Given the description of an element on the screen output the (x, y) to click on. 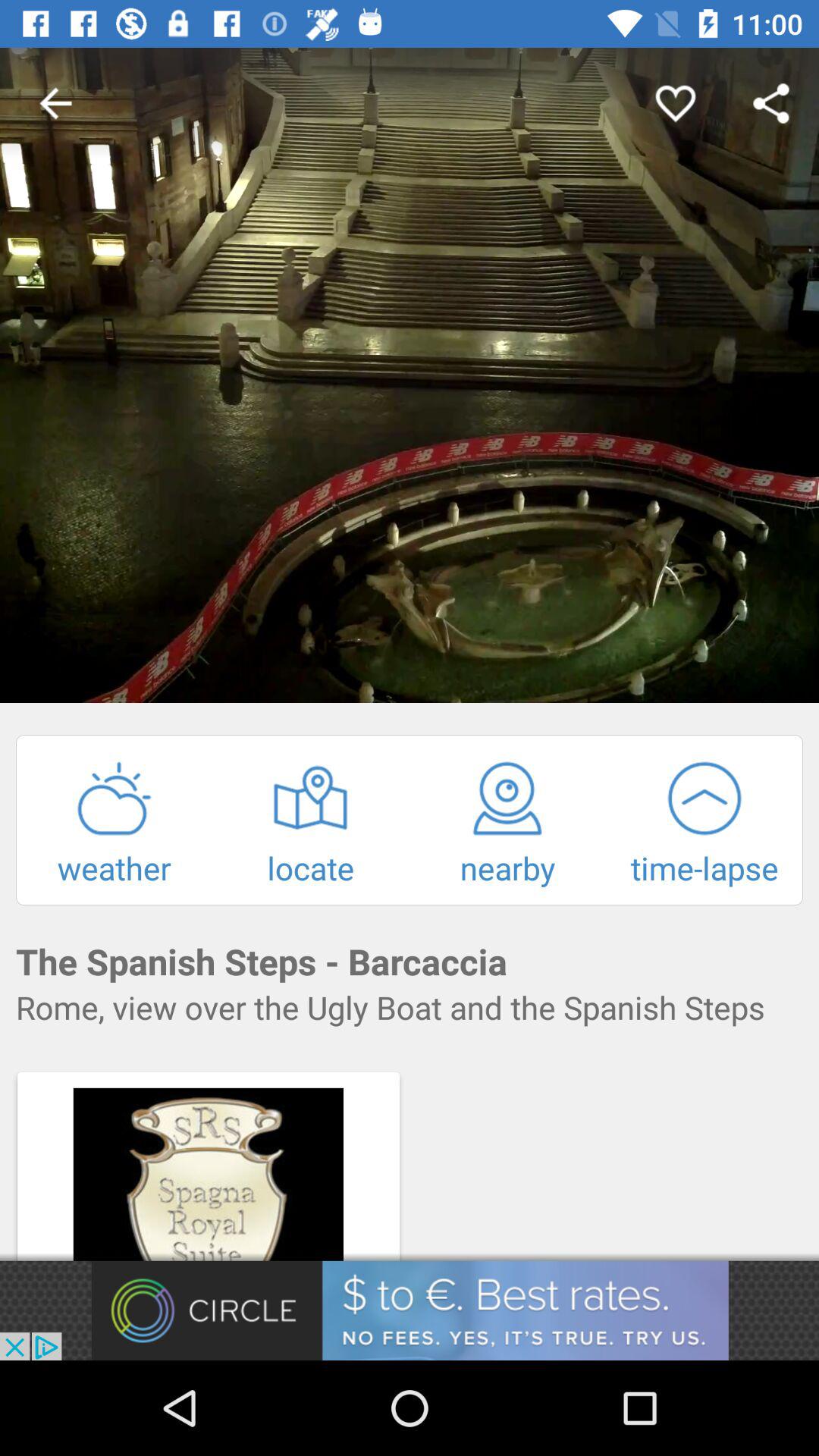
option right to nearby option (704, 823)
select the option named as weather (114, 823)
select the text above the second image (409, 1007)
